Given the description of an element on the screen output the (x, y) to click on. 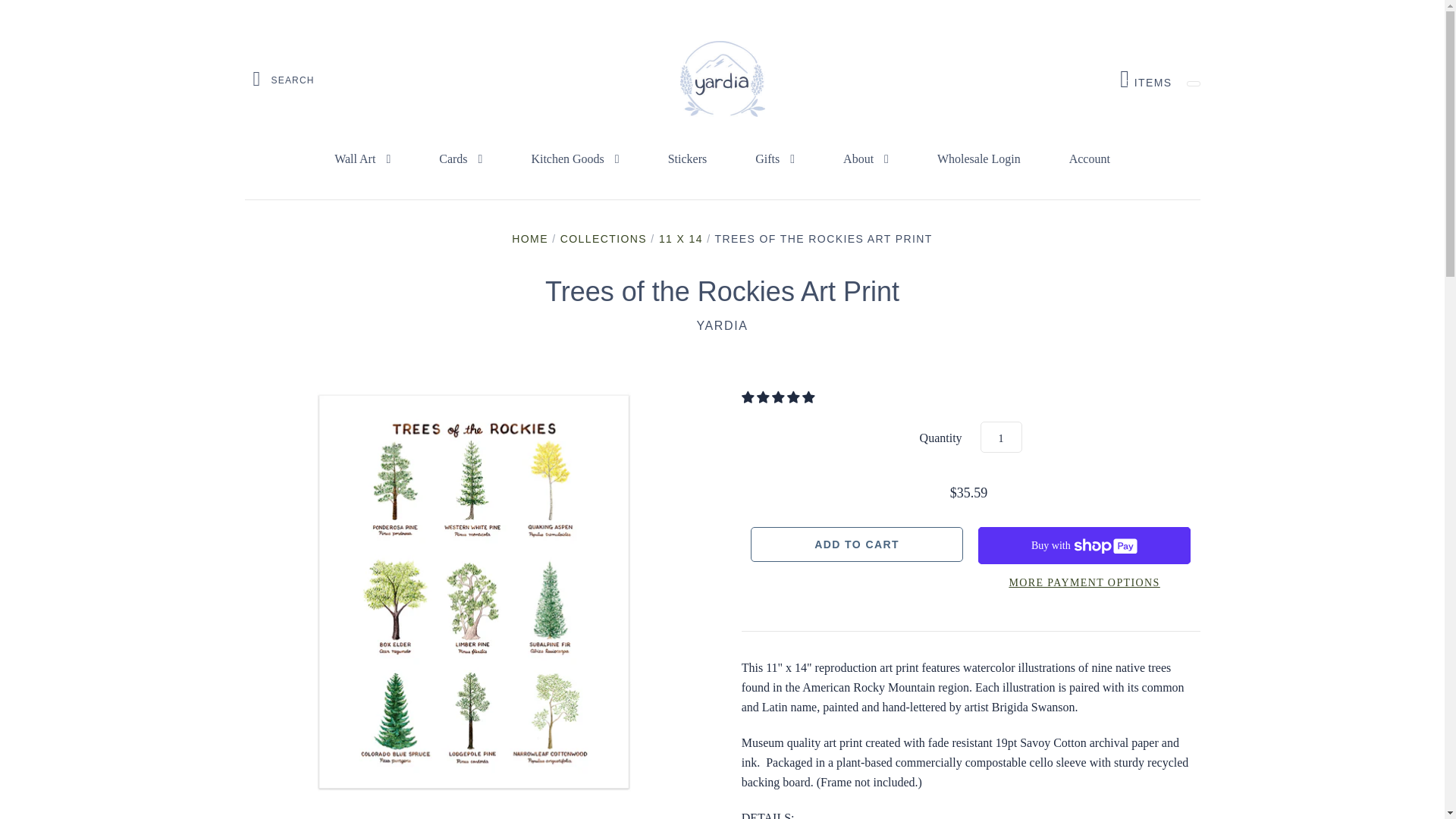
Cards (460, 159)
Wall Art (362, 159)
About (866, 159)
1 (1000, 436)
Stickers (687, 159)
Add to cart (856, 544)
Gifts (774, 159)
Kitchen Goods (1145, 78)
